Given the description of an element on the screen output the (x, y) to click on. 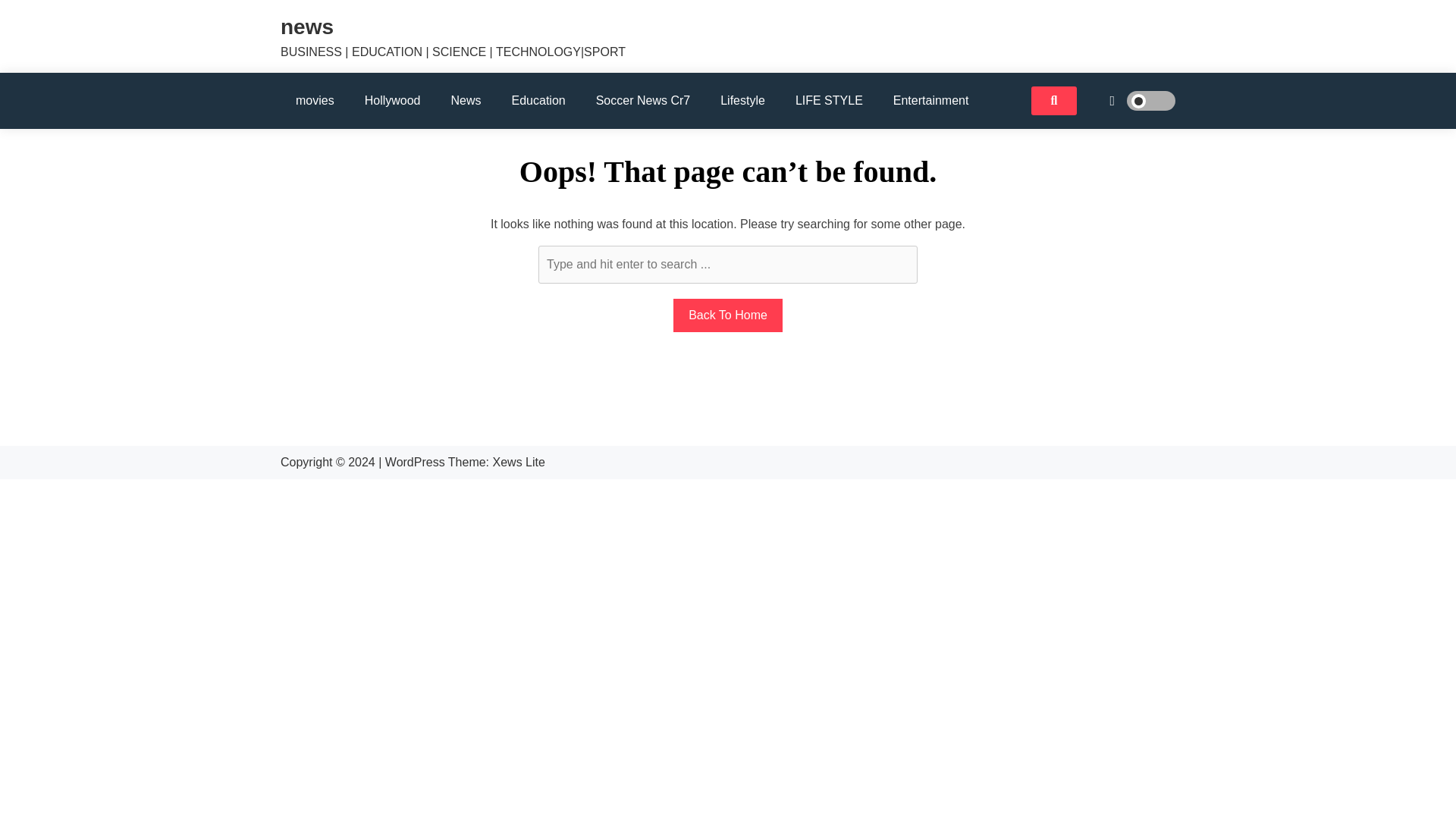
Back To Home (727, 315)
Xews Lite (518, 461)
movies (315, 100)
Entertainment (930, 100)
News (465, 100)
Education (538, 100)
Soccer News Cr7 (642, 100)
Hollywood (392, 100)
Lifestyle (742, 100)
LIFE STYLE (828, 100)
